Given the description of an element on the screen output the (x, y) to click on. 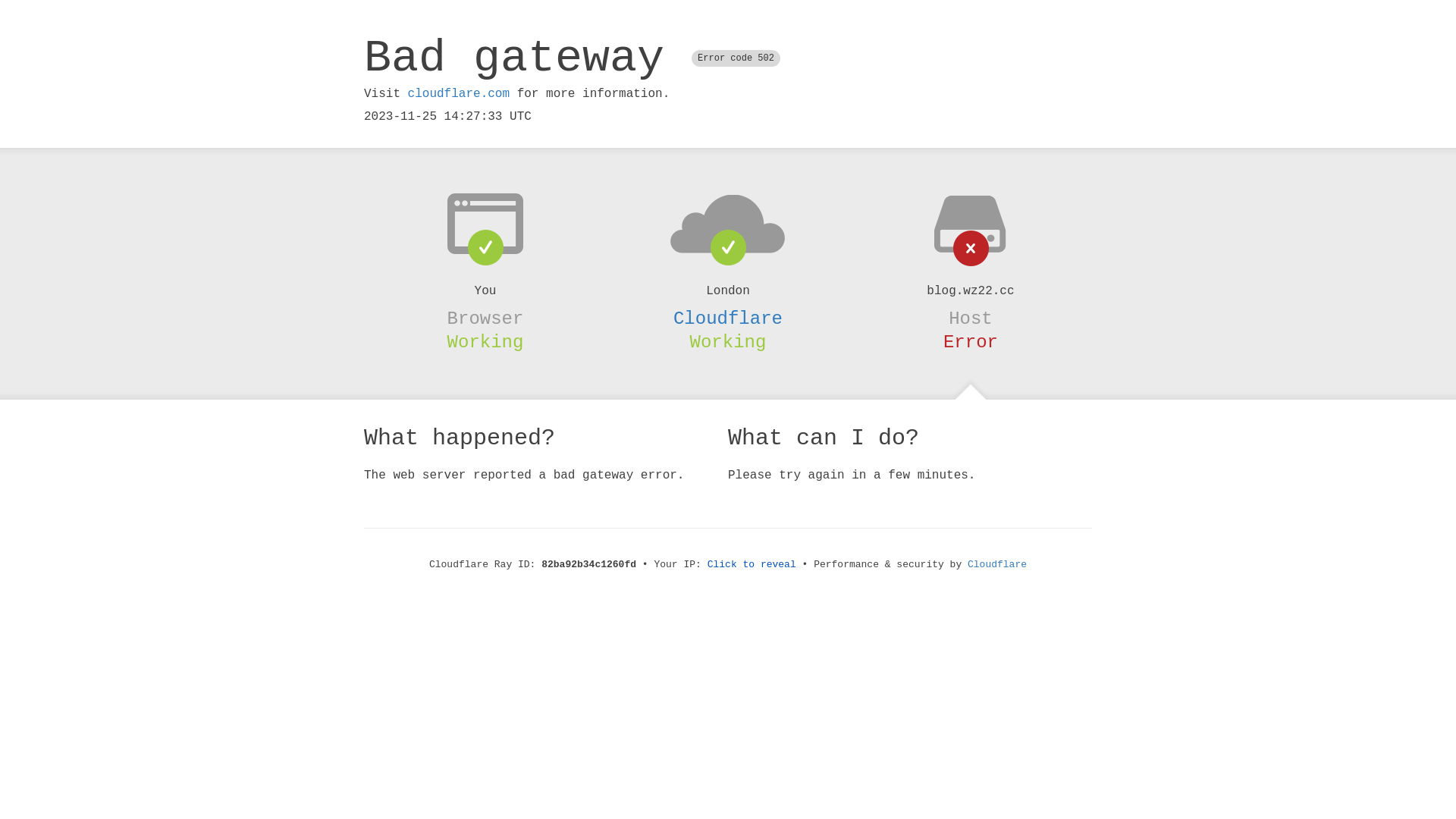
Cloudflare Element type: text (727, 318)
Click to reveal Element type: text (751, 564)
cloudflare.com Element type: text (458, 93)
Cloudflare Element type: text (996, 564)
